Given the description of an element on the screen output the (x, y) to click on. 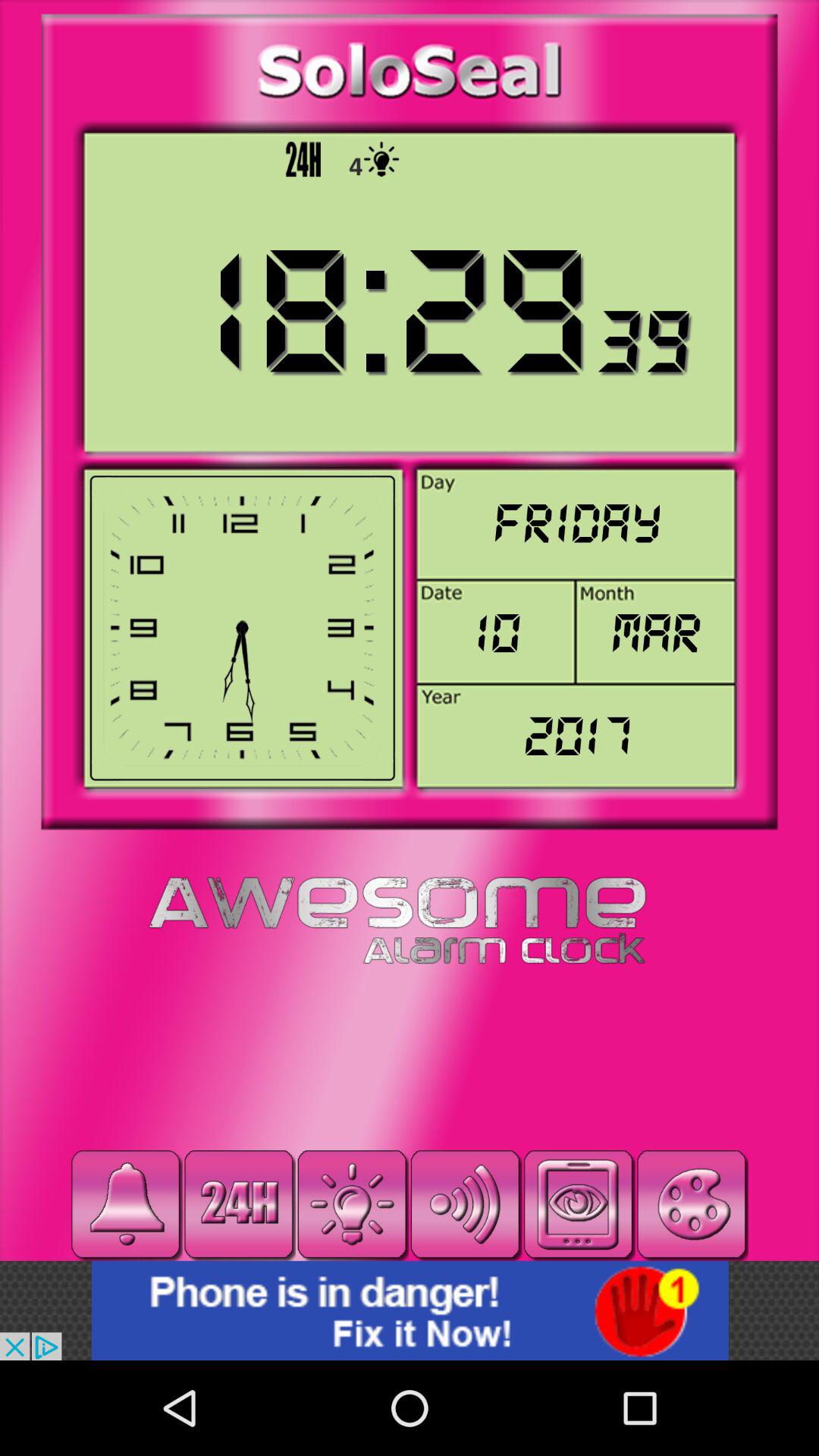
select phone advertisement (409, 1310)
